Given the description of an element on the screen output the (x, y) to click on. 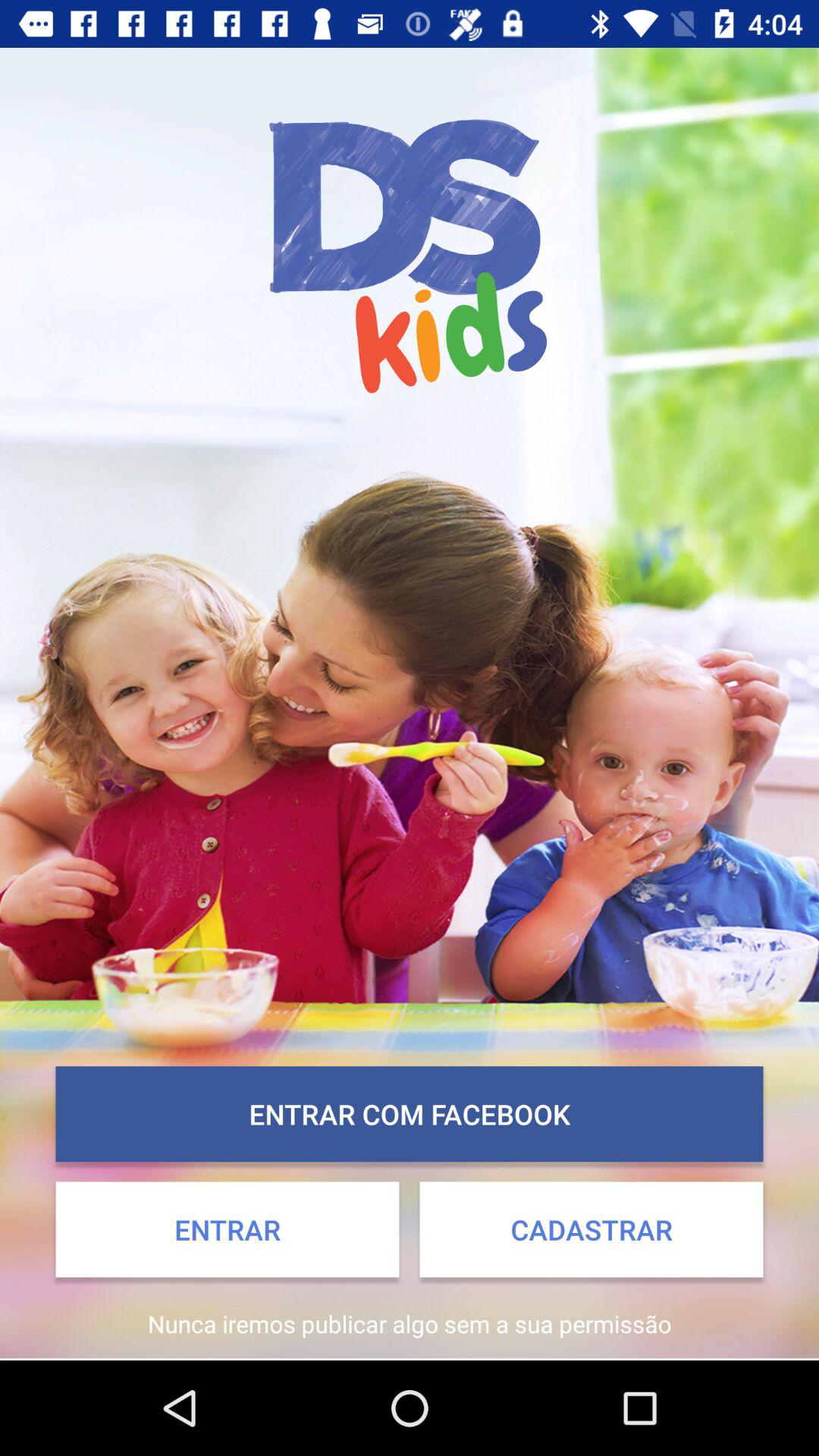
tap the item next to entrar button (591, 1229)
